Given the description of an element on the screen output the (x, y) to click on. 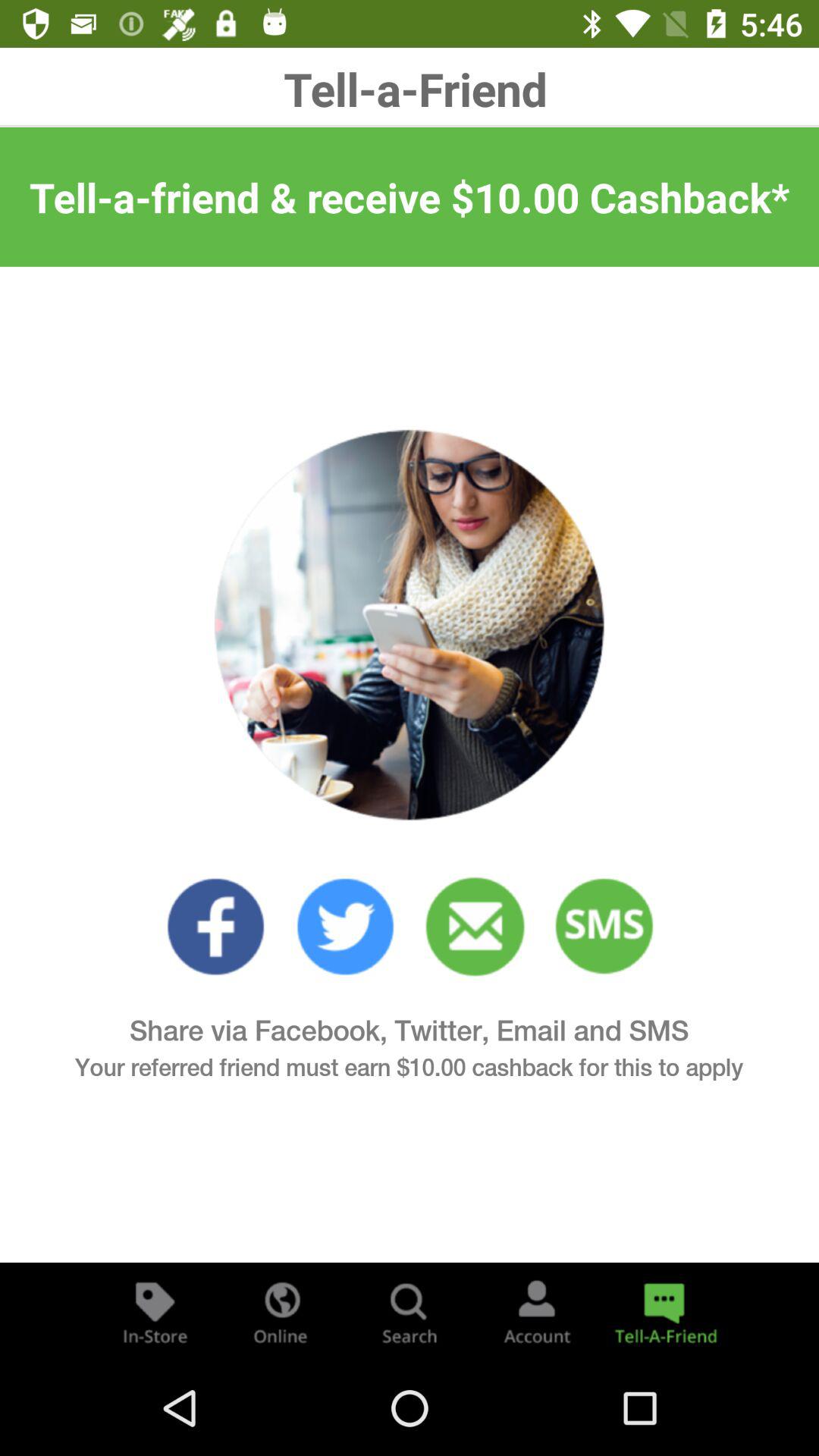
shares referral via facebook (215, 926)
